Given the description of an element on the screen output the (x, y) to click on. 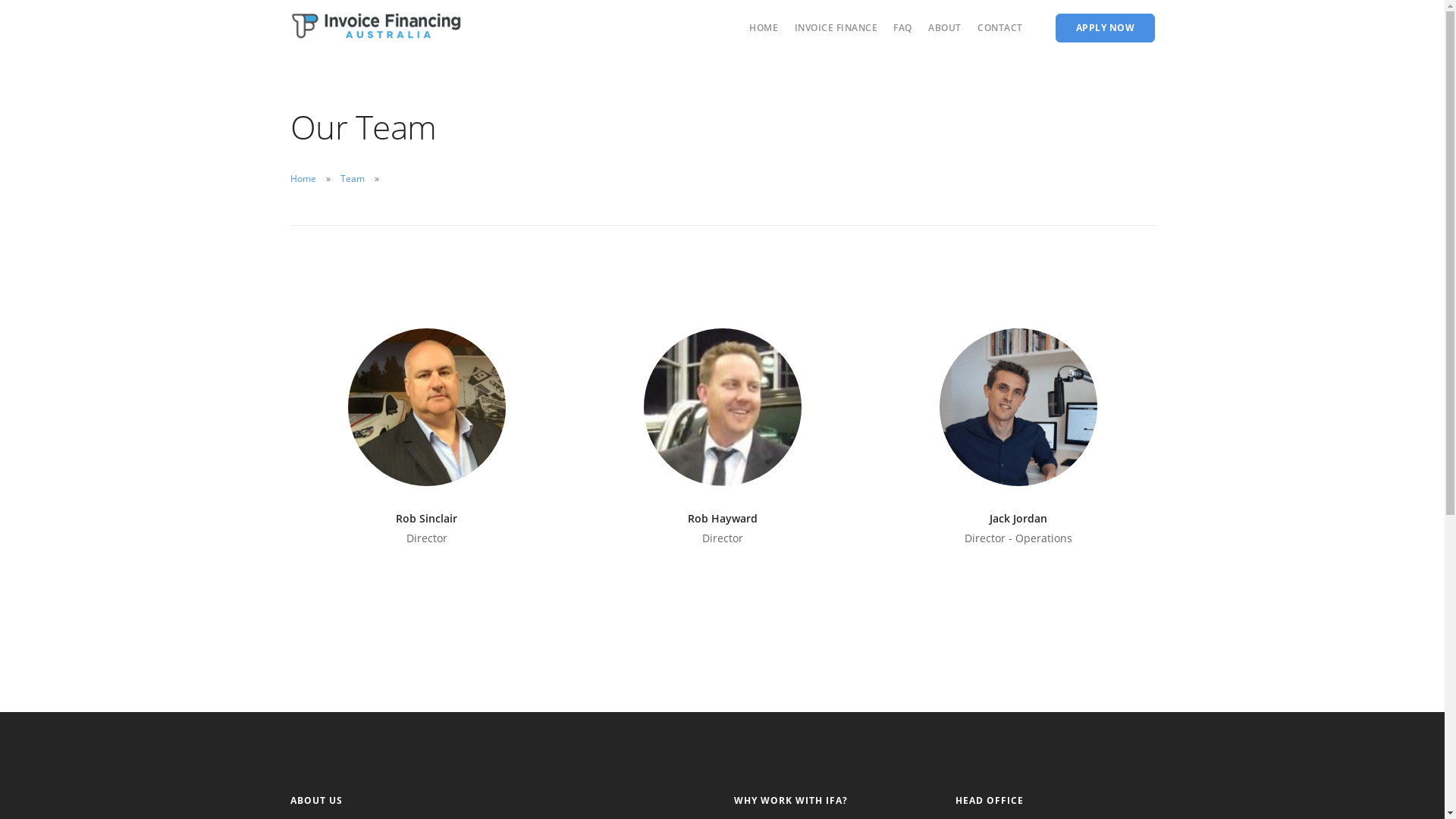
HOME Element type: text (763, 27)
Rob Sinclair Element type: text (426, 518)
CONTACT Element type: text (999, 27)
INVOICE FINANCE Element type: text (836, 27)
Home Element type: text (302, 178)
FAQ Element type: text (902, 27)
APPLY NOW Element type: text (1104, 27)
Rob Hayward Element type: text (721, 518)
ABOUT Element type: text (944, 27)
Team Element type: text (351, 178)
Jack Jordan Element type: text (1017, 518)
